Given the description of an element on the screen output the (x, y) to click on. 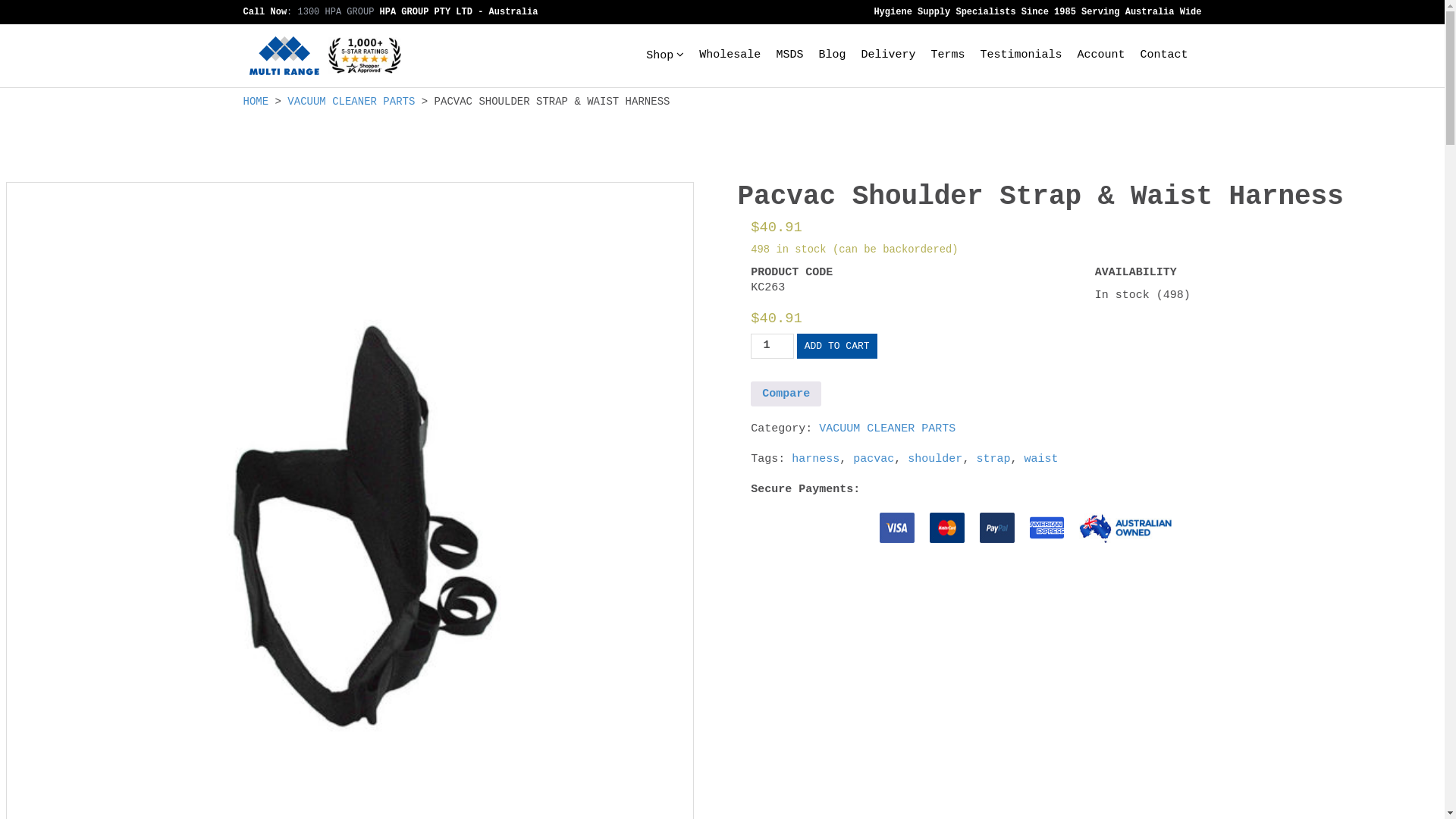
Terms Element type: text (947, 54)
VACUUM CLEANER PARTS Element type: text (350, 101)
american Express Element type: hover (1046, 527)
waist Element type: text (1040, 458)
harness Element type: text (815, 458)
Blog Element type: text (831, 54)
Testimonials Element type: text (1020, 54)
Compare Element type: text (785, 394)
Australian Owned Element type: hover (1125, 527)
Account Element type: text (1100, 54)
Contact Element type: text (1163, 54)
VACUUM CLEANER PARTS Element type: text (887, 428)
MSDS Element type: text (789, 54)
shoulder Element type: text (934, 458)
Wholesale Element type: text (729, 54)
HOME Element type: text (255, 101)
Shop Element type: text (659, 55)
Delivery Element type: text (887, 54)
pacvac Element type: text (873, 458)
Visa Element type: hover (897, 527)
ADD TO CART Element type: text (837, 345)
MasterCard Element type: hover (947, 527)
strap Element type: text (992, 458)
PayPal Element type: hover (997, 527)
